Given the description of an element on the screen output the (x, y) to click on. 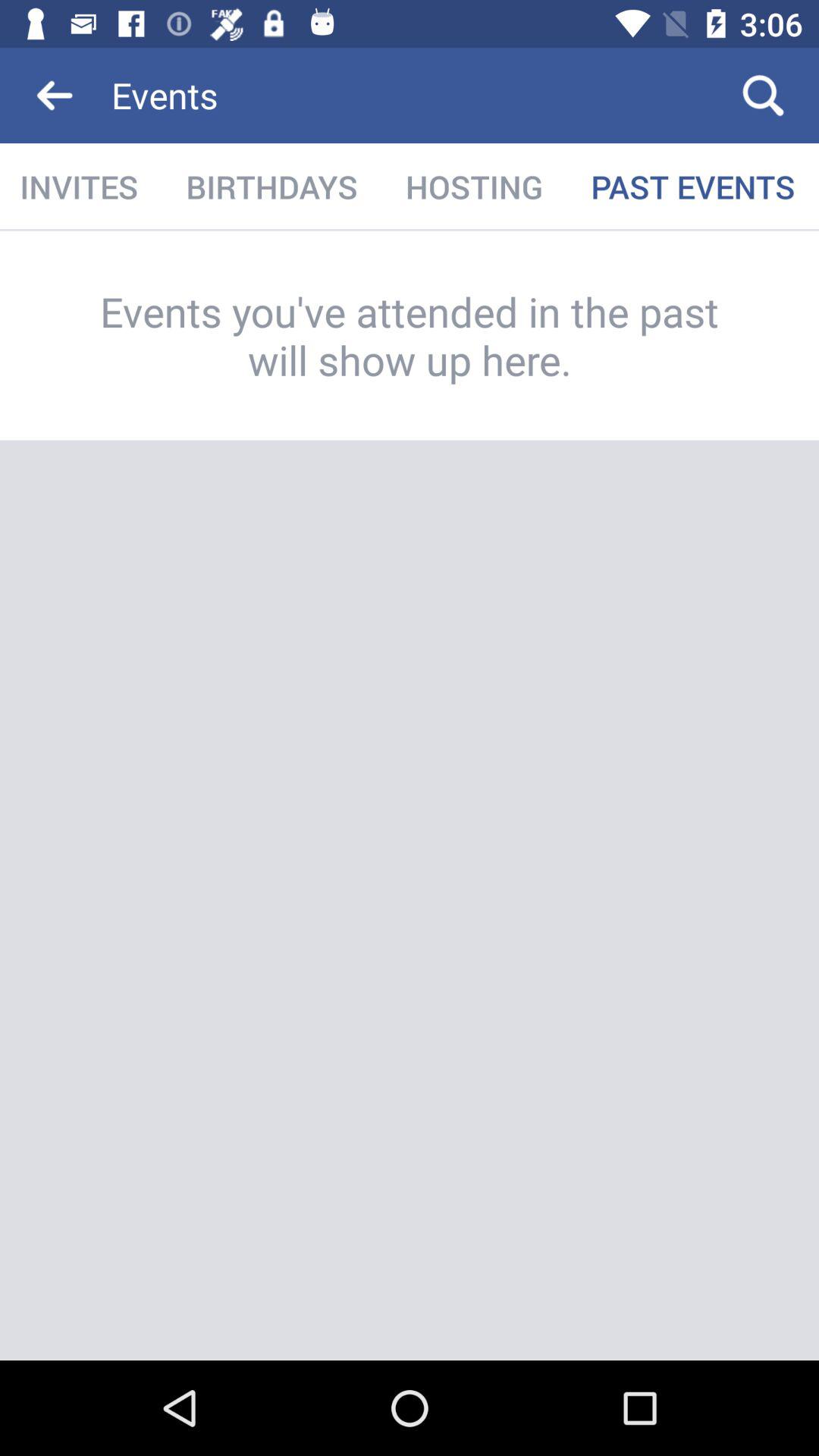
press the icon to the right of the events icon (763, 95)
